Given the description of an element on the screen output the (x, y) to click on. 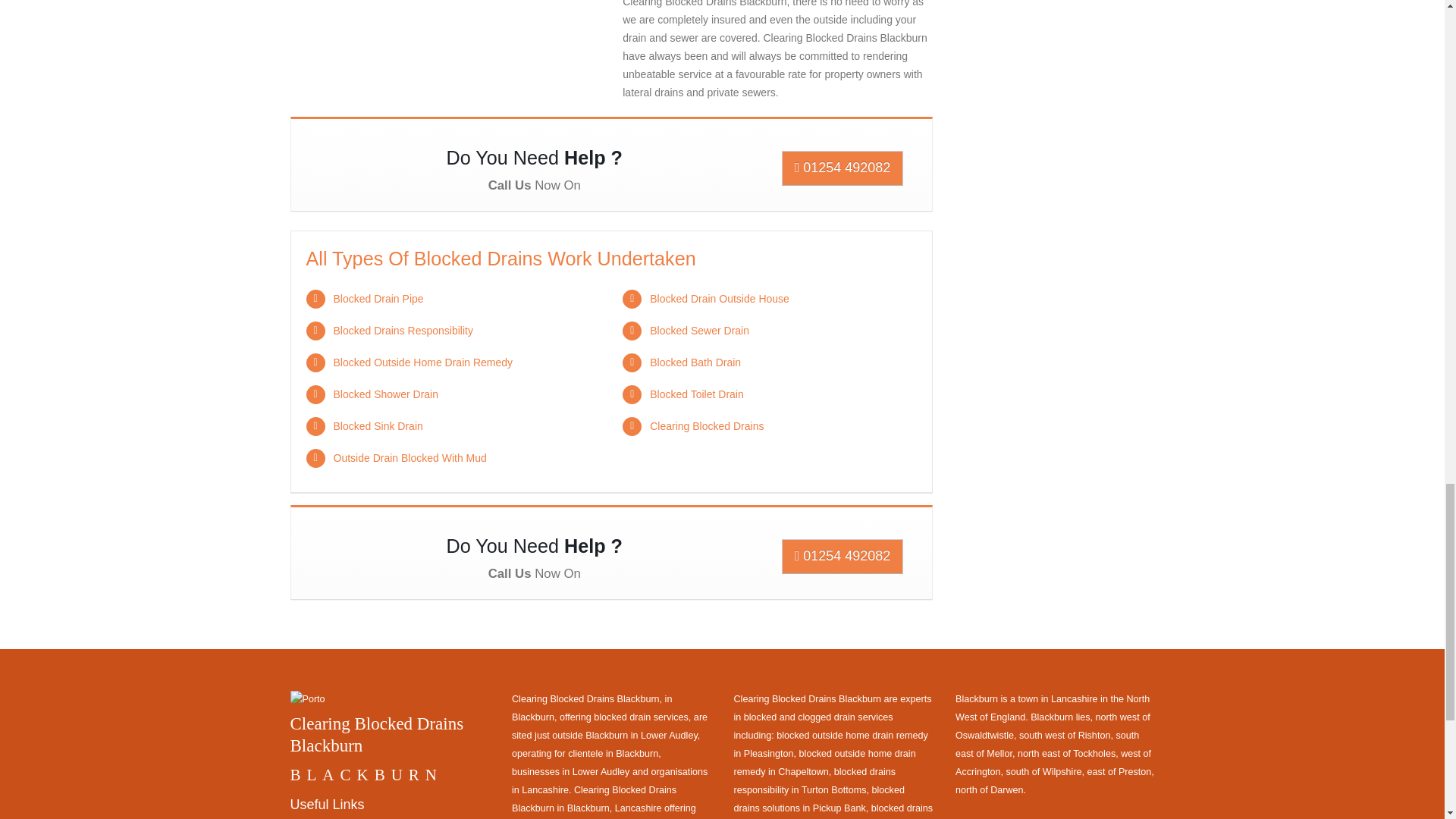
Blocked Drain Outside House (719, 298)
Blocked Shower Drain (386, 394)
Blocked Drains Responsibility (403, 330)
Blocked Toilet Drain (695, 394)
Blocked Drain Pipe (378, 298)
Clearing Blocked Drains (705, 426)
Blocked Sink Drain (378, 426)
Blocked Sewer Drain (699, 330)
01254 492082 (842, 556)
Outside Drain Blocked With Mud (409, 458)
Blocked Bath Drain (695, 362)
Blocked Outside Home Drain Remedy (423, 362)
01254 492082 (842, 167)
